Given the description of an element on the screen output the (x, y) to click on. 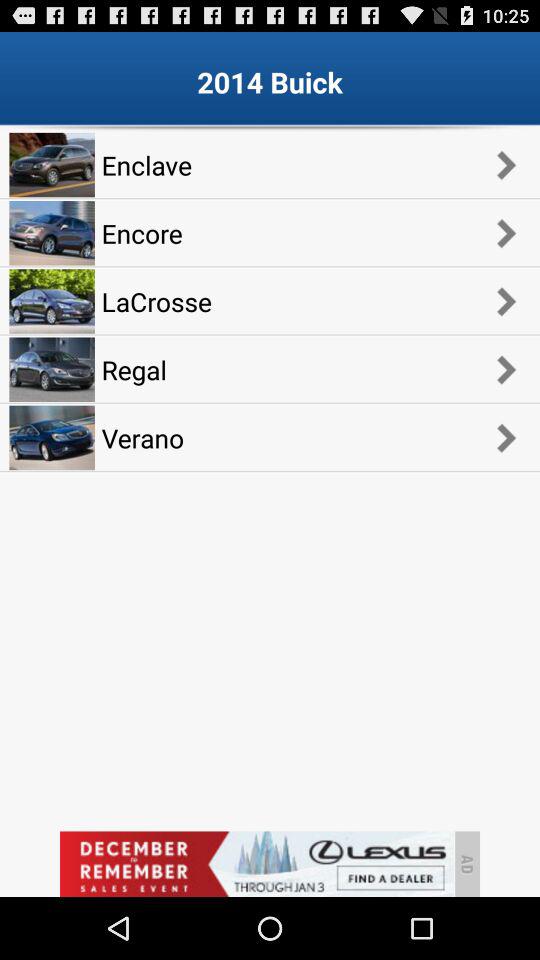
open advertisement (256, 864)
